Given the description of an element on the screen output the (x, y) to click on. 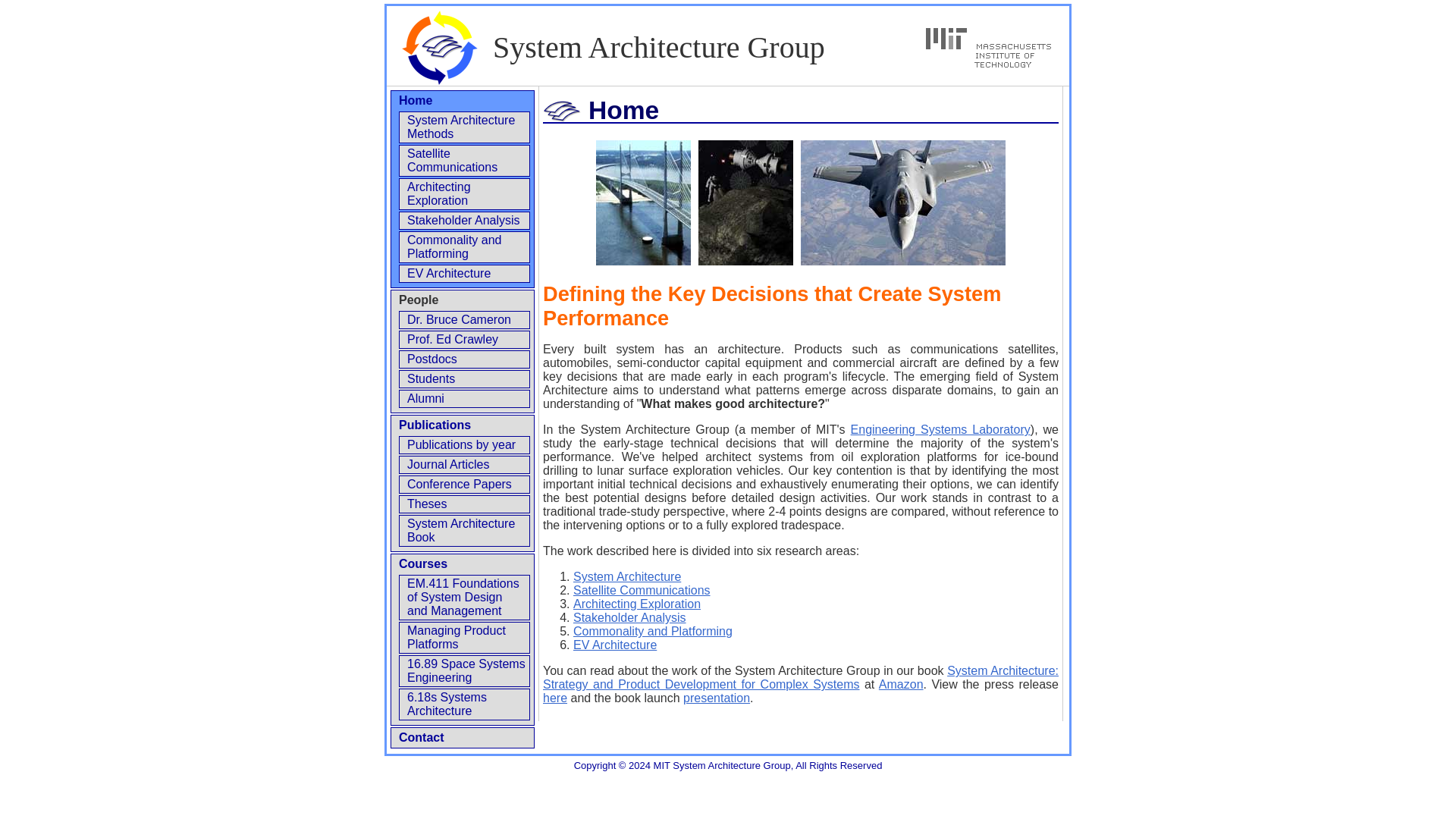
EM.411 Foundations of System Design and Management (463, 597)
16.89 Space Systems Engineering (466, 670)
Stakeholder Analysis (463, 219)
Alumni (425, 398)
Publications by year (461, 444)
Architecting Exploration (438, 193)
Contact (421, 737)
Courses (422, 563)
Architecting Exploration (636, 603)
Publications (434, 424)
Engineering Systems Laboratory (940, 429)
Dr. Bruce Cameron (459, 318)
Amazon (901, 684)
EV Architecture (448, 273)
Journal Articles (448, 463)
